Given the description of an element on the screen output the (x, y) to click on. 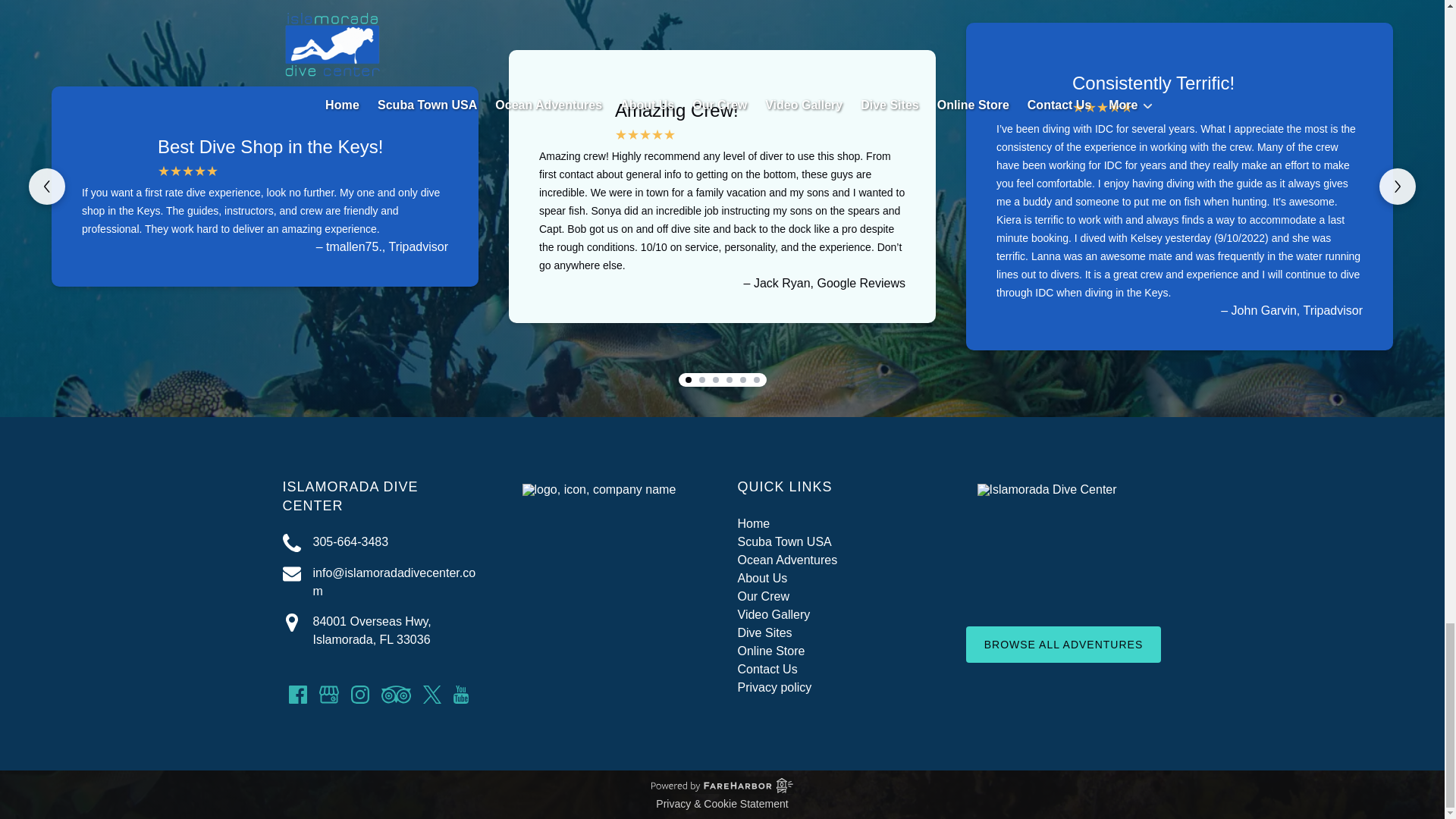
Envelope (290, 574)
Map Marker (290, 622)
Phone (290, 542)
